Given the description of an element on the screen output the (x, y) to click on. 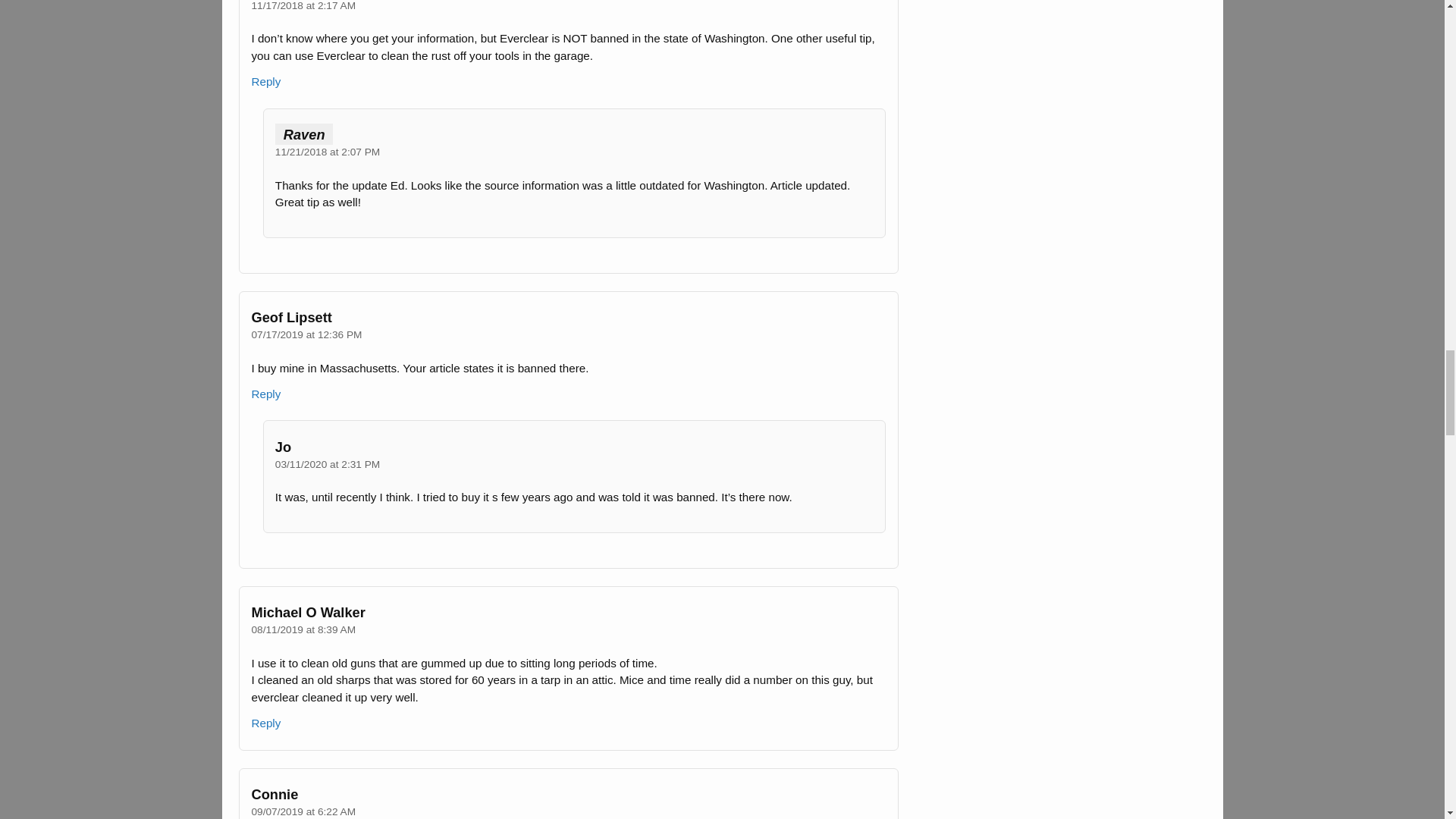
Reply (265, 81)
